Given the description of an element on the screen output the (x, y) to click on. 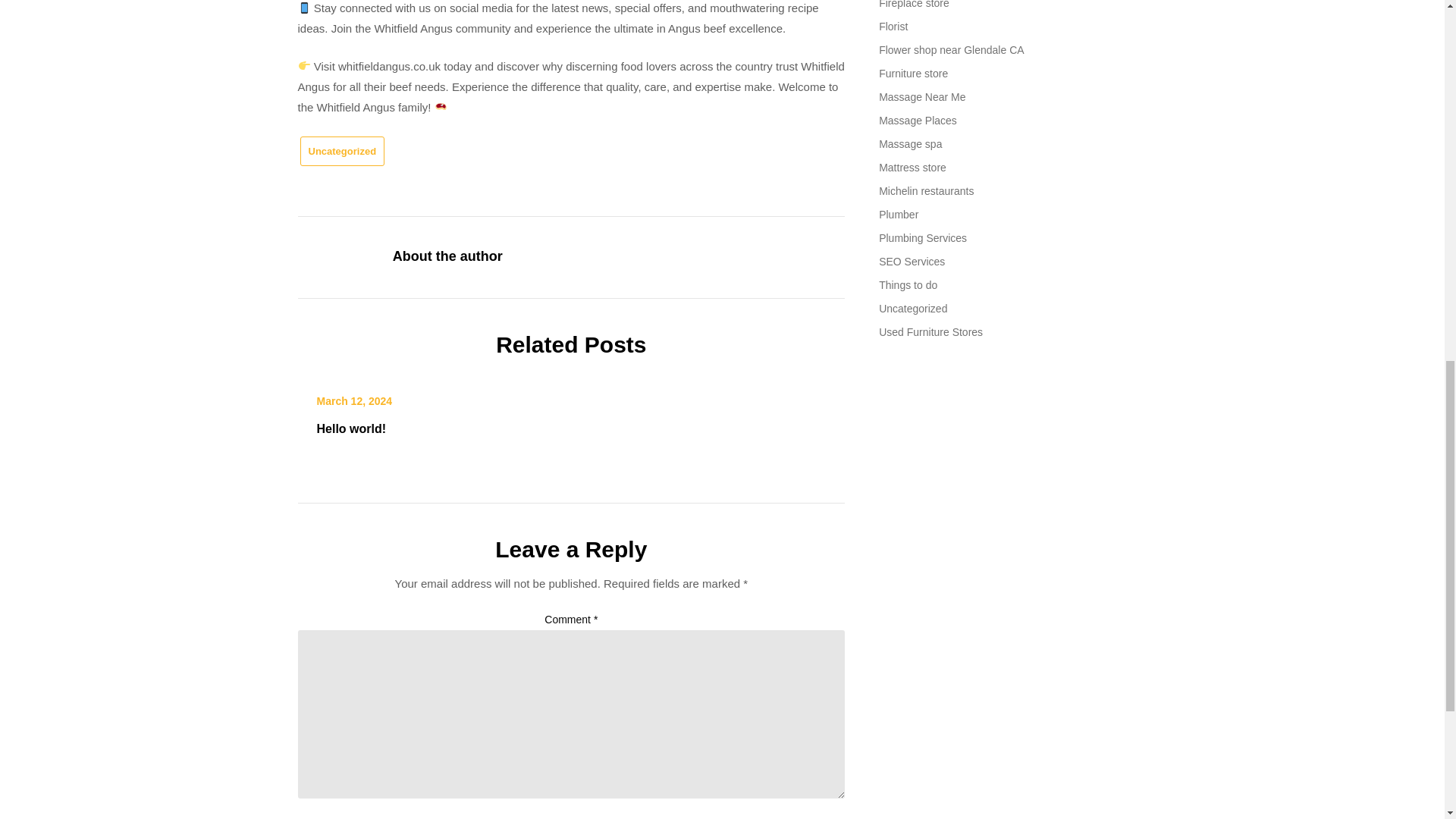
Florist (893, 26)
Massage Near Me (922, 96)
Massage Places (917, 120)
Mattress store (912, 167)
Plumbing Services (922, 237)
Fireplace store (914, 4)
Plumber (898, 214)
Massage spa (910, 143)
Used Furniture Stores (930, 331)
Uncategorized (913, 308)
